Given the description of an element on the screen output the (x, y) to click on. 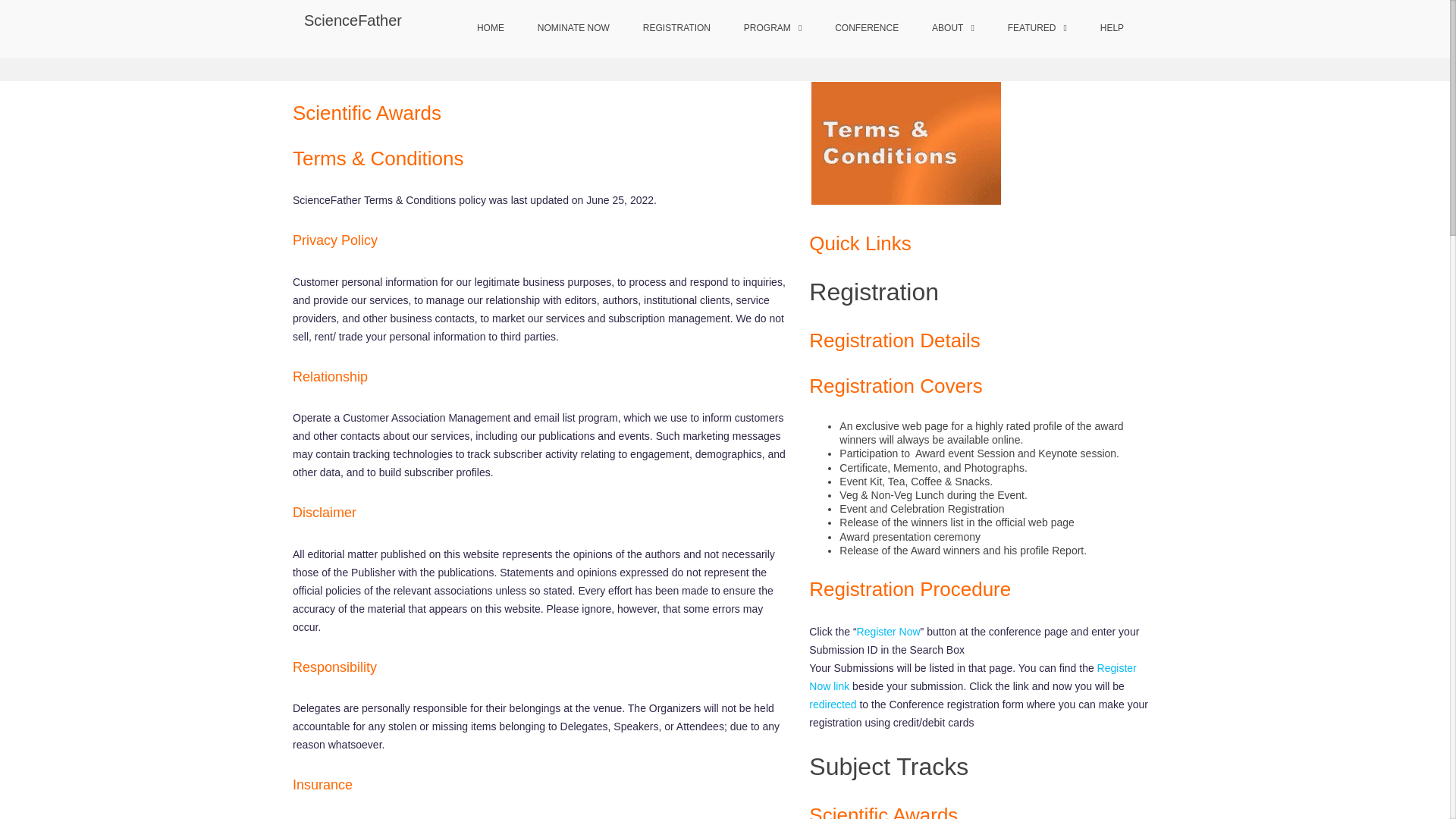
REGISTRATION (676, 28)
Register Now (888, 631)
ABOUT (953, 28)
Register Now link (972, 676)
CONFERENCE (866, 28)
Conferences list (724, 51)
redirected (832, 704)
ScienceFather (352, 20)
HELP (1111, 28)
PROGRAM (772, 28)
NOMINATE NOW (573, 28)
FEATURED (1036, 28)
HOME (490, 28)
Conferences list (724, 51)
Home (662, 51)
